Given the description of an element on the screen output the (x, y) to click on. 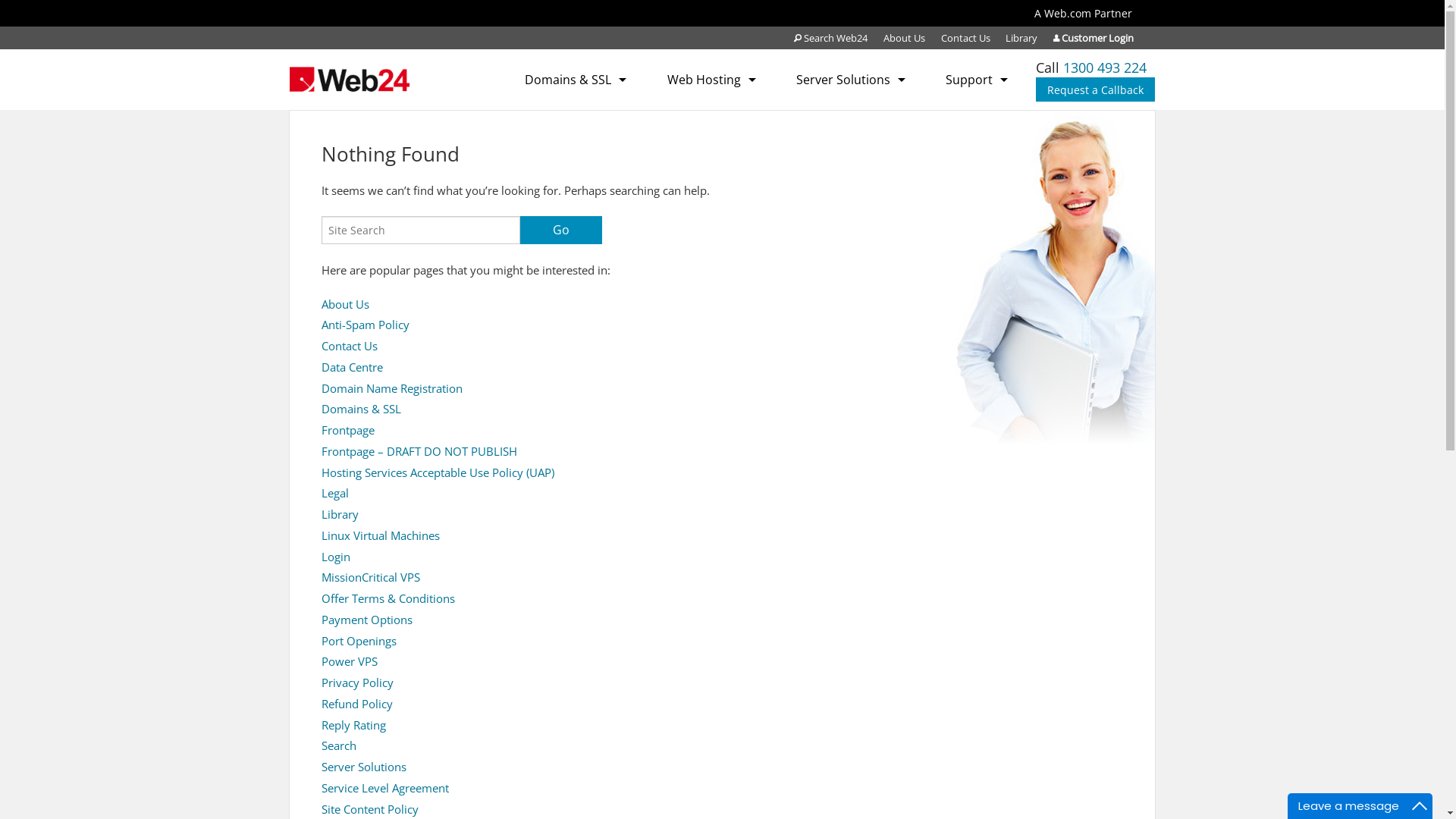
Web Hosting (Plesk) Element type: text (710, 126)
Contact Us Element type: text (349, 346)
Reply Rating Element type: text (353, 725)
Web Hosting Element type: text (710, 79)
Maximize Element type: hover (1419, 806)
About Us Element type: text (345, 304)
Search Element type: text (338, 745)
Customer Login Element type: text (1093, 37)
MissionCritical VPS Element type: text (370, 577)
About Us Element type: text (904, 37)
Server Solutions Element type: text (363, 767)
1300 493 224 Element type: text (1104, 67)
Payment Options Element type: text (366, 619)
Login Element type: text (335, 556)
Server Solutions Element type: text (850, 79)
Port Openings Element type: text (358, 641)
Privacy Policy Element type: text (357, 682)
Reseller Hosting (Plesk) Element type: text (710, 156)
Linux VPS Element type: text (879, 168)
Data Centre Element type: text (351, 367)
Search Web24 Element type: text (830, 37)
Service Level Agreement Element type: text (384, 788)
Request a Callback Element type: text (1094, 89)
Support Element type: text (976, 79)
Windows VPS Element type: text (879, 199)
Contact Us Element type: text (965, 37)
SSL Certificates Element type: text (575, 126)
Domains & SSL Element type: text (361, 409)
Frontpage Element type: text (347, 430)
What is my IP Element type: text (976, 217)
Library Element type: text (1021, 37)
Library Element type: text (339, 514)
Offer Terms & Conditions Element type: text (388, 598)
Legal Element type: text (334, 493)
Power VPS Element type: text (349, 661)
Domain Name Registration Element type: text (575, 156)
Domain Name Registration Element type: text (391, 388)
Submit a Support Ticket Element type: text (976, 126)
Go Element type: text (561, 230)
Refund Policy Element type: text (356, 704)
Linux Virtual Machines Element type: text (380, 535)
Domains & SSL Element type: text (575, 79)
Anti-Spam Policy Element type: text (365, 324)
Tutorials Element type: text (976, 156)
Hosting Services Acceptable Use Policy (UAP) Element type: text (437, 472)
Network Status Element type: text (976, 187)
Site Content Policy Element type: text (369, 809)
